Given the description of an element on the screen output the (x, y) to click on. 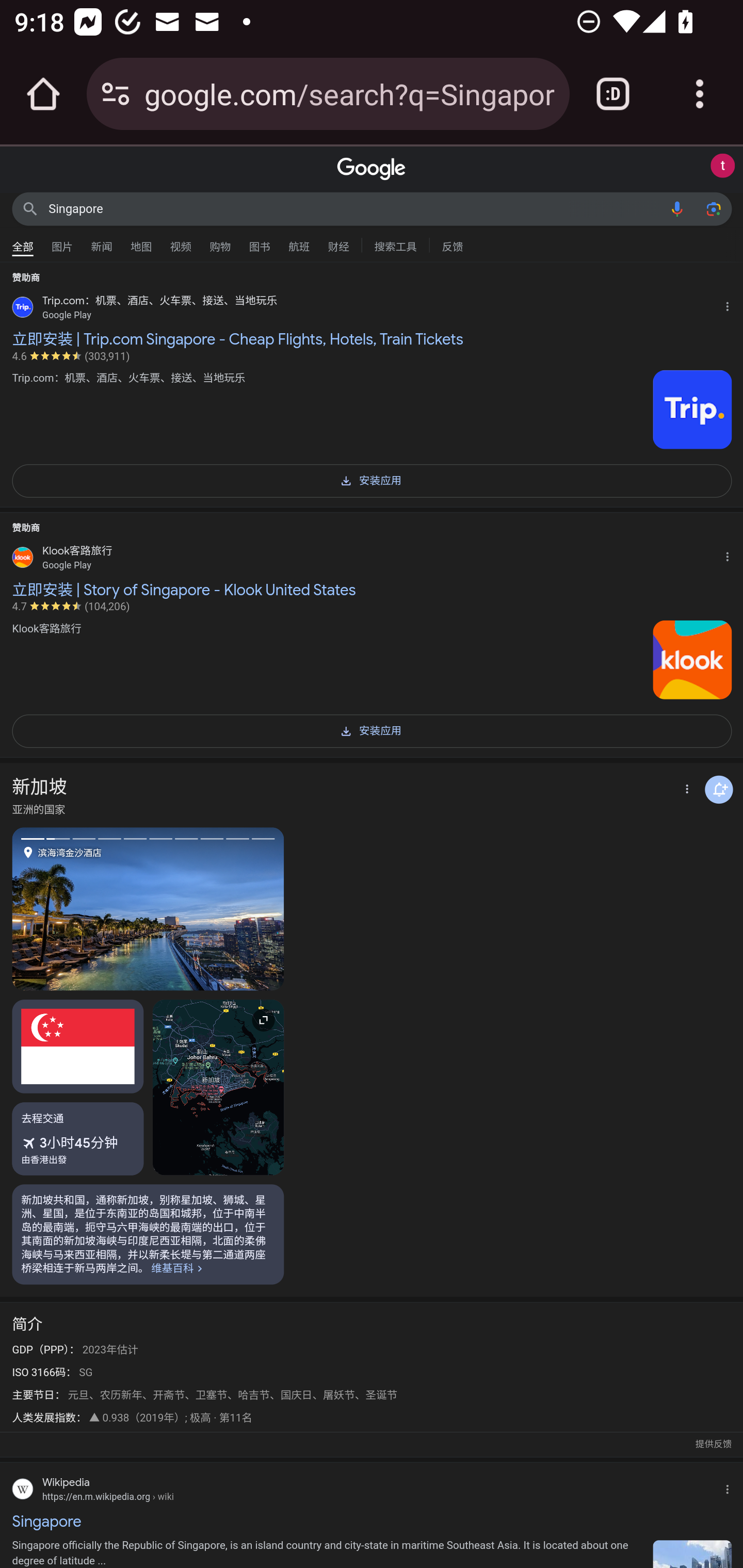
Open the home page (43, 93)
Connection is secure (115, 93)
Switch or close tabs (612, 93)
Customize and control Google Chrome (699, 93)
Google (371, 169)
Google 账号： test appium (testappium002@gmail.com) (722, 165)
Google 搜索 (29, 208)
使用拍照功能或照片进行搜索 (712, 208)
Singapore (353, 208)
图片 (62, 241)
新闻 (101, 241)
地图 (141, 241)
视频 (180, 241)
购物 (219, 241)
图书 (259, 241)
航班 (299, 241)
财经 (338, 241)
搜索工具 (395, 244)
反馈 (452, 244)
为什么会显示该广告？ (731, 303)
图片来自 google.com (691, 410)
安装应用 (371, 478)
为什么会显示该广告？ (731, 553)
立即安装 | Story of Singapore - Klook United States (371, 589)
图片来自 google.com (691, 659)
安装应用 (371, 729)
接收关于“新加坡”的通知 (718, 789)
更多选项 (685, 789)
旗帜的图片。 (77, 1045)
展开地图 (217, 1087)
去程交通 3小时45分钟 乘坐飞机 由香港出發 (77, 1139)
%E6%96%B0%E5%8A%A0%E5%9D%A1 (147, 1233)
提供反馈 (713, 1444)
Singapore (371, 1520)
